Given the description of an element on the screen output the (x, y) to click on. 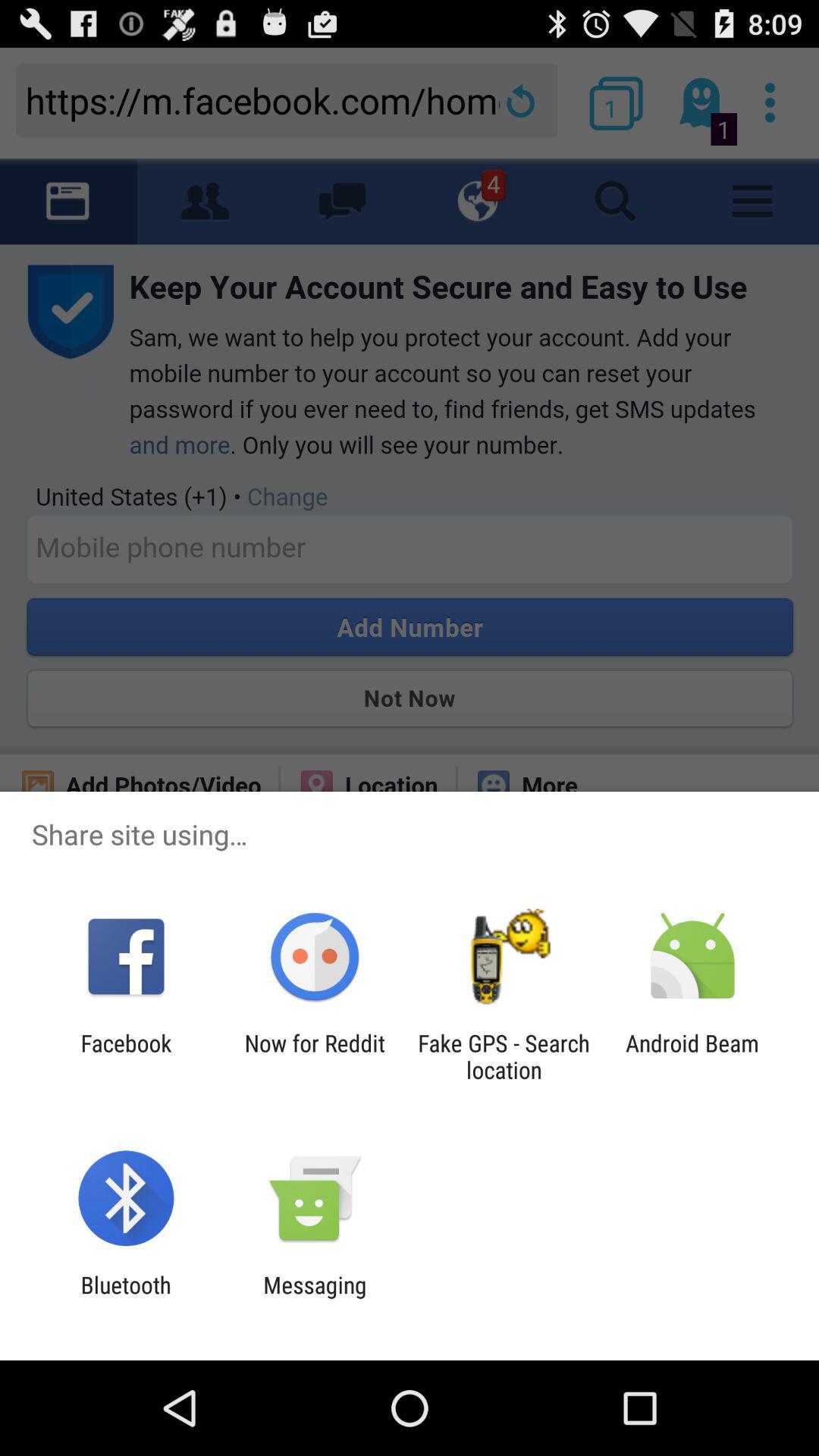
swipe to bluetooth item (125, 1298)
